Given the description of an element on the screen output the (x, y) to click on. 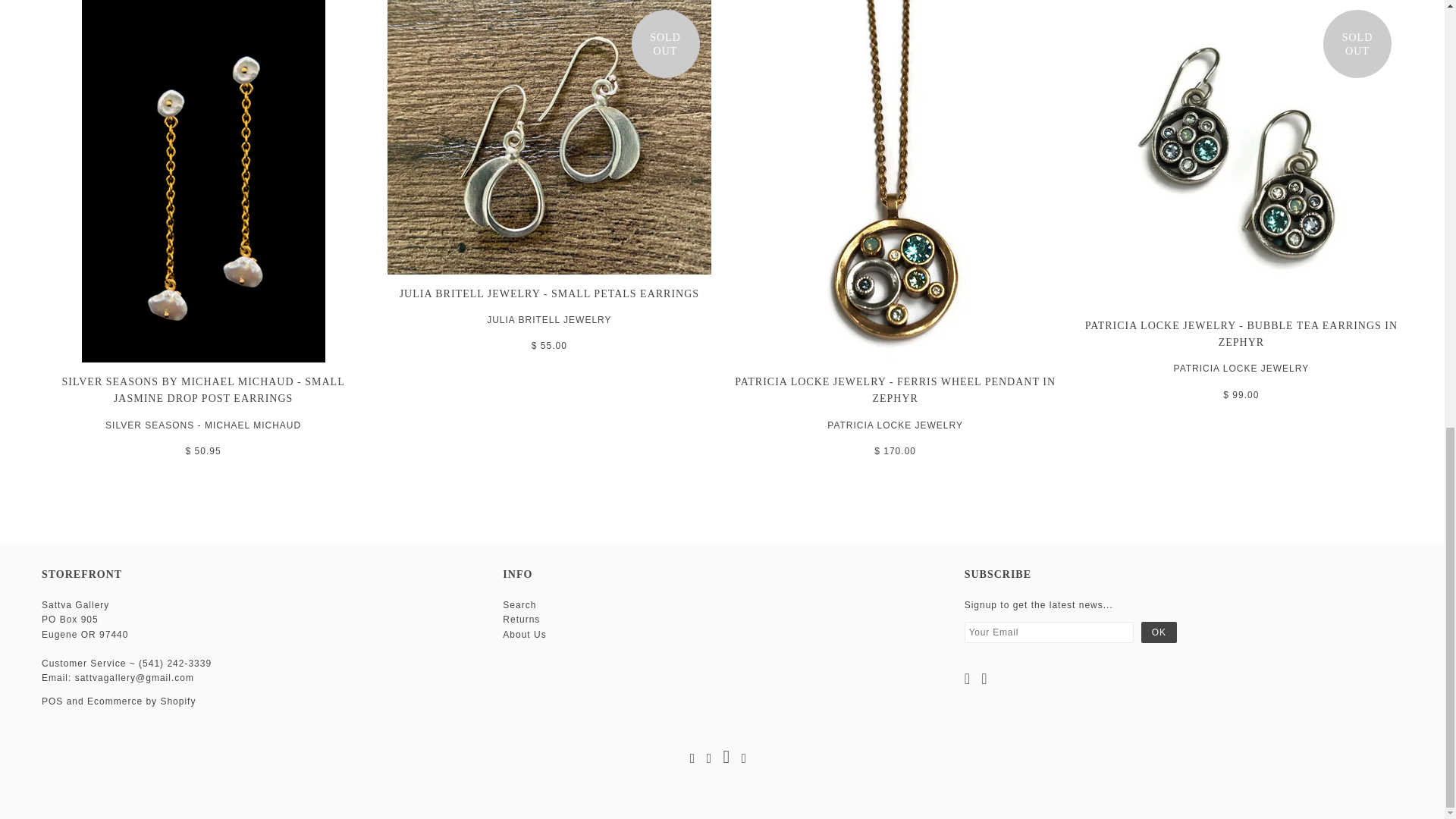
OK (1158, 631)
